Given the description of an element on the screen output the (x, y) to click on. 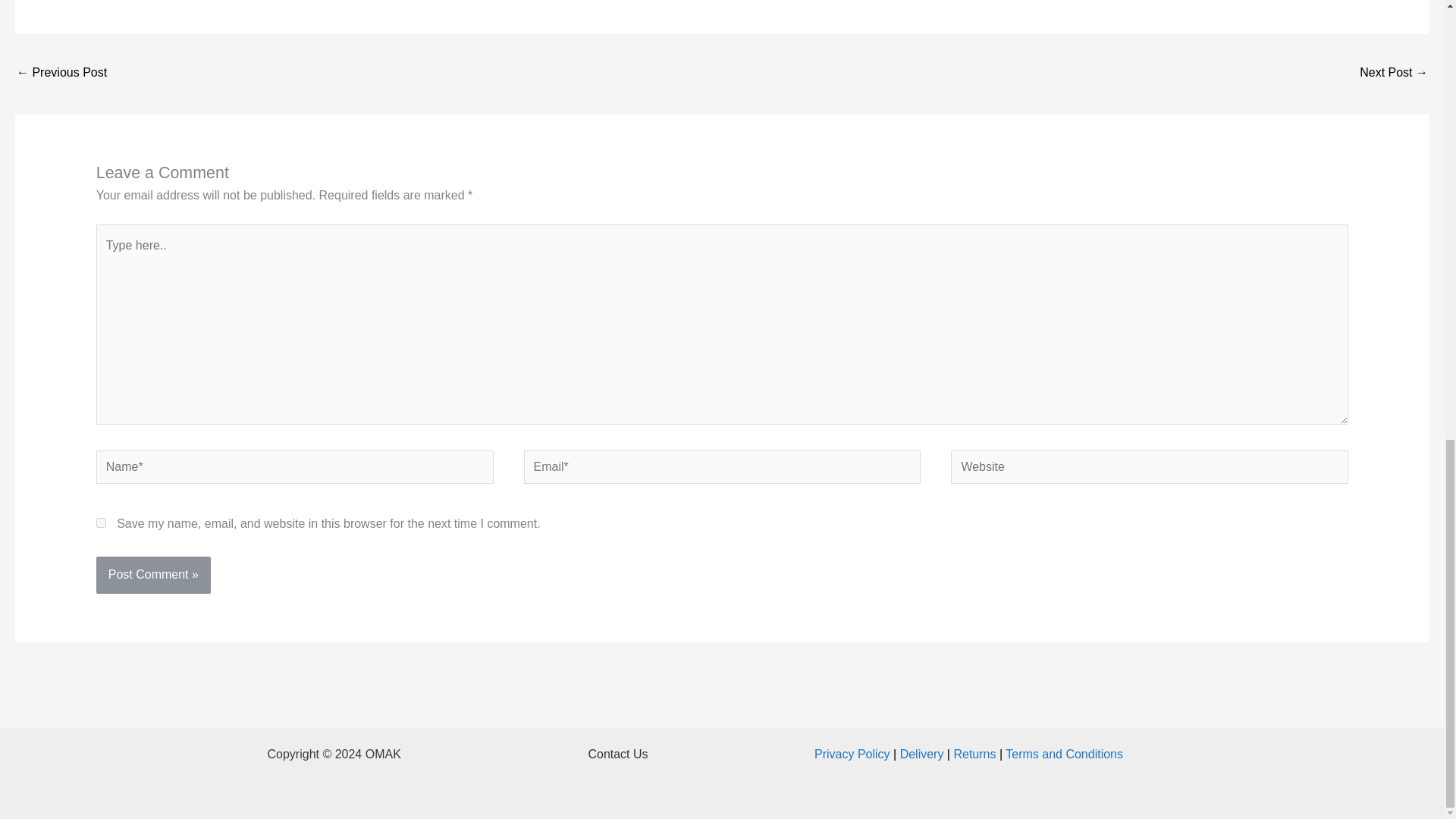
yes (101, 522)
